Given the description of an element on the screen output the (x, y) to click on. 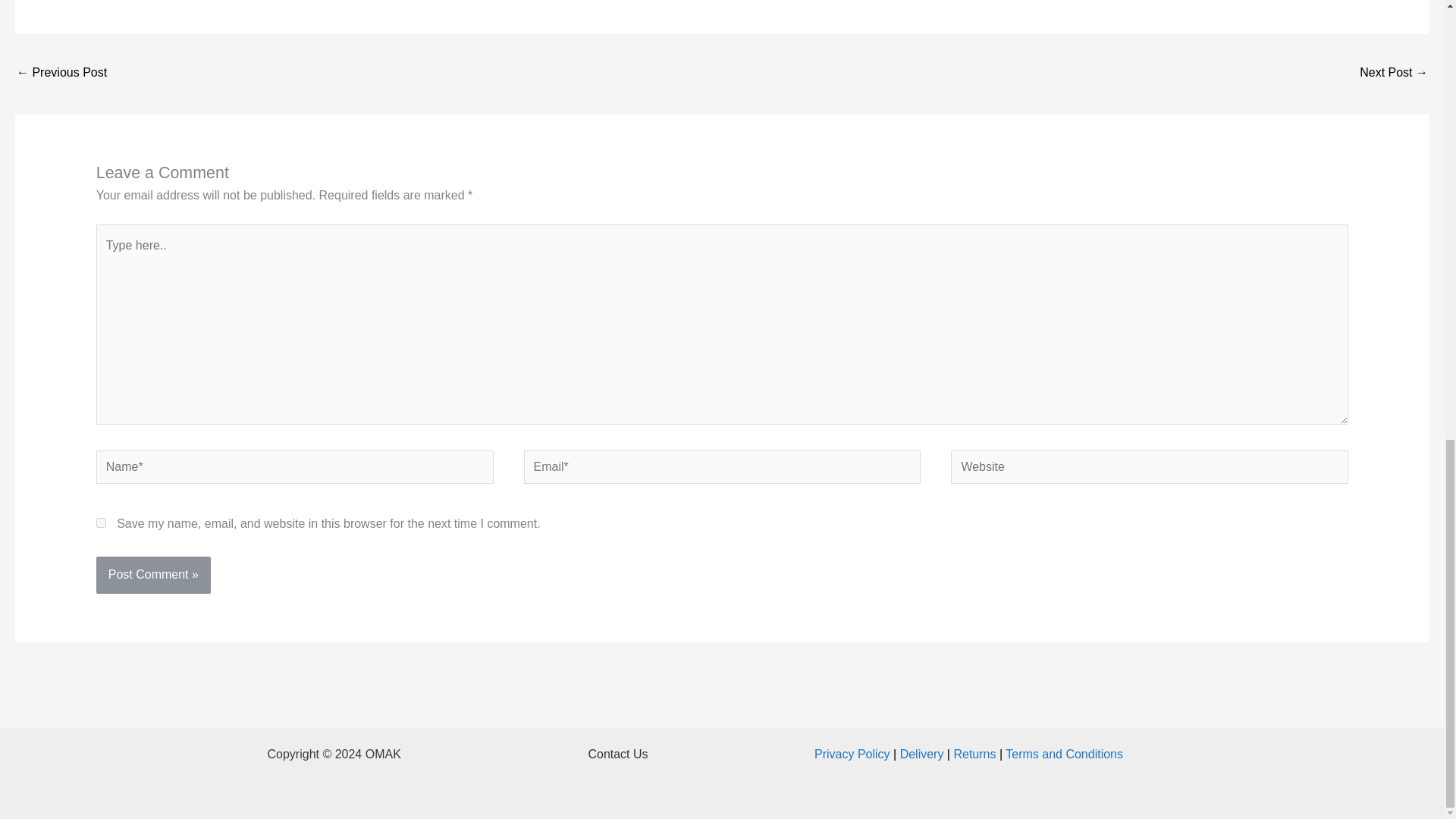
yes (101, 522)
